Given the description of an element on the screen output the (x, y) to click on. 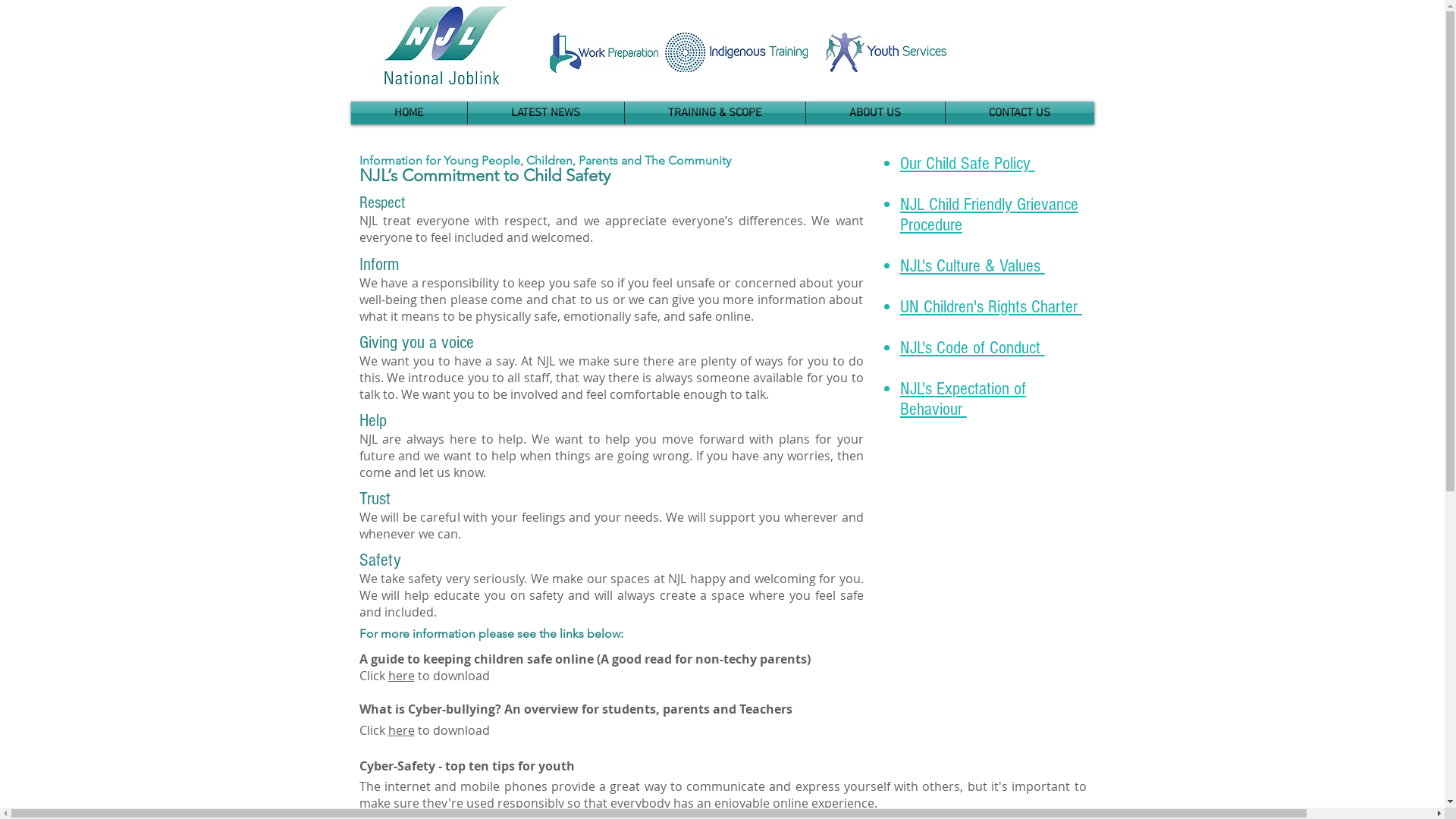
HOME Element type: text (408, 112)
Our Child Safe Policy  Element type: text (967, 163)
LATEST NEWS Element type: text (545, 112)
TRAINING & SCOPE Element type: text (714, 112)
NJL's Culture & Values  Element type: text (972, 265)
ABOUT US Element type: text (874, 112)
NJL's Expectation of Behaviour  Element type: text (963, 398)
UN Children's Rights Charter  Element type: text (991, 306)
NJL's Code of Conduct  Element type: text (972, 347)
NJL Child Friendly Grievance Procedure Element type: text (989, 214)
NJL_LOGO_col.jpg Element type: hover (446, 45)
CONTACT US Element type: text (1018, 112)
here Element type: text (401, 729)
here Element type: text (401, 675)
